Given the description of an element on the screen output the (x, y) to click on. 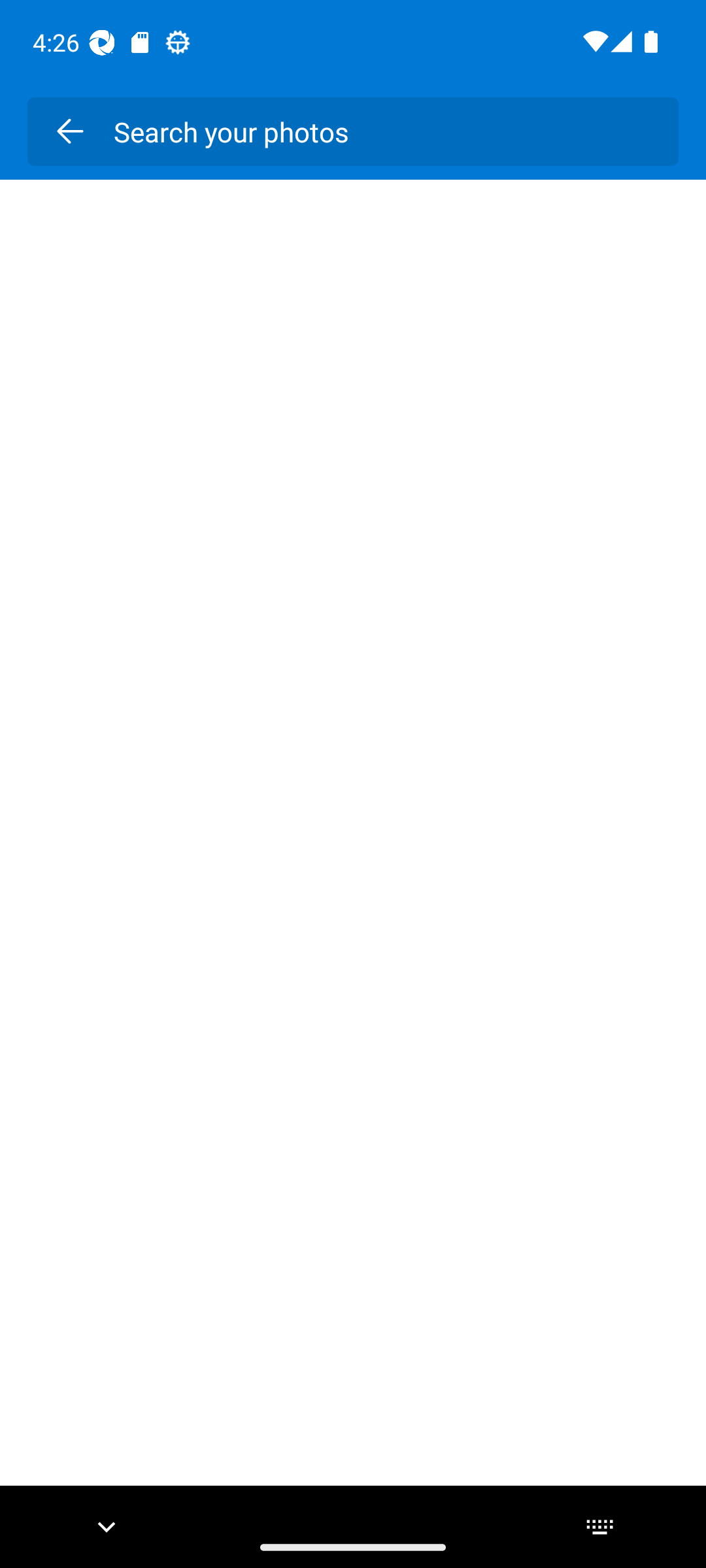
Navigate Up (69, 131)
Search your photos (382, 131)
